Given the description of an element on the screen output the (x, y) to click on. 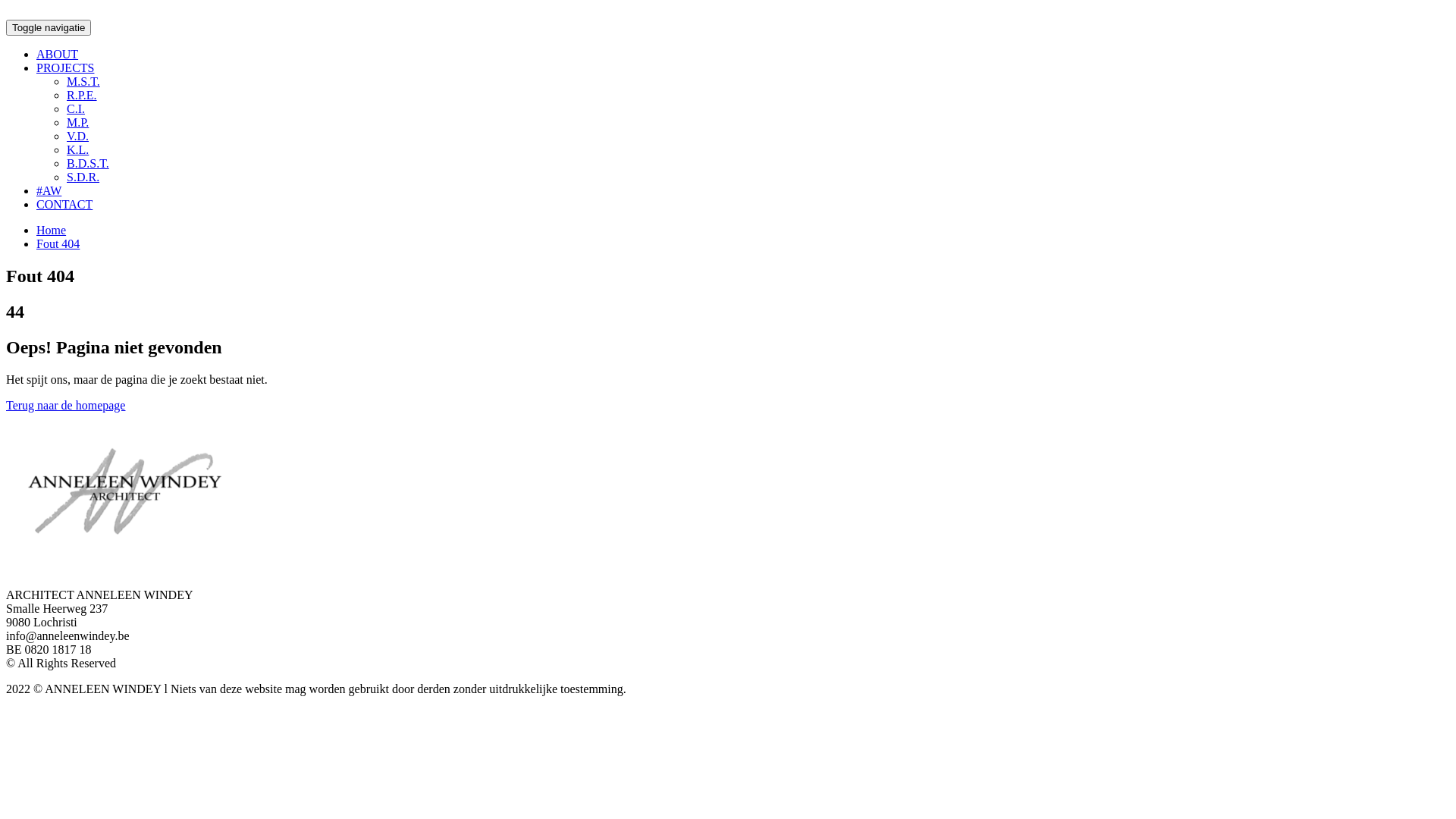
#AW Element type: text (48, 190)
C.I. Element type: text (75, 108)
K.L. Element type: text (77, 149)
Doorgaan naar inhoud Element type: text (5, 5)
CONTACT Element type: text (64, 203)
ABOUT Element type: text (57, 53)
B.D.S.T. Element type: text (87, 162)
Fout 404 Element type: text (57, 243)
Terug naar de homepage Element type: text (65, 404)
M.P. Element type: text (77, 122)
R.P.E. Element type: text (81, 94)
Home Element type: text (50, 229)
M.S.T. Element type: text (83, 81)
PROJECTS Element type: text (65, 67)
Toggle navigatie Element type: text (48, 27)
V.D. Element type: text (77, 135)
S.D.R. Element type: text (82, 176)
